Given the description of an element on the screen output the (x, y) to click on. 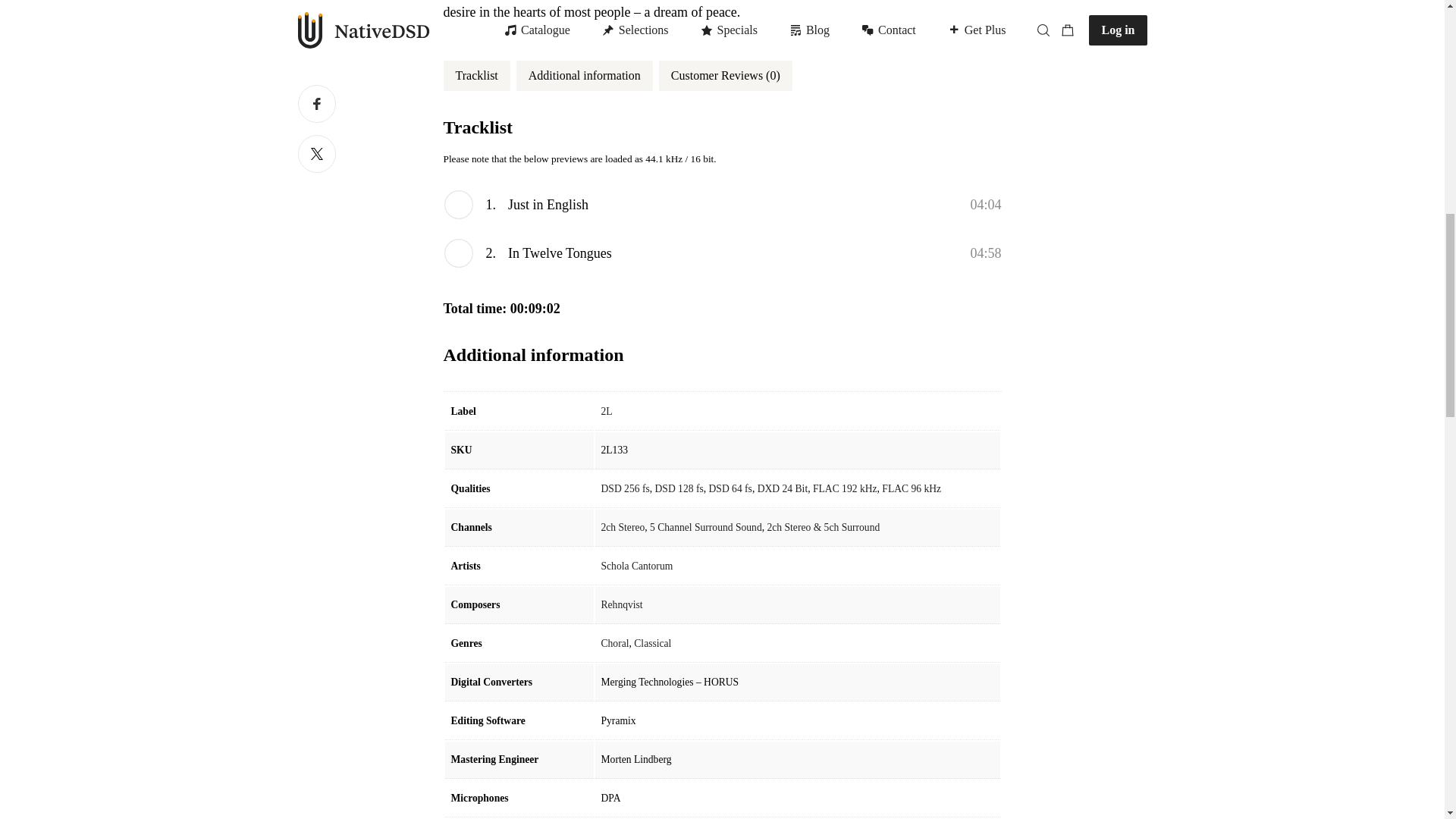
Subscribe (859, 18)
